Given the description of an element on the screen output the (x, y) to click on. 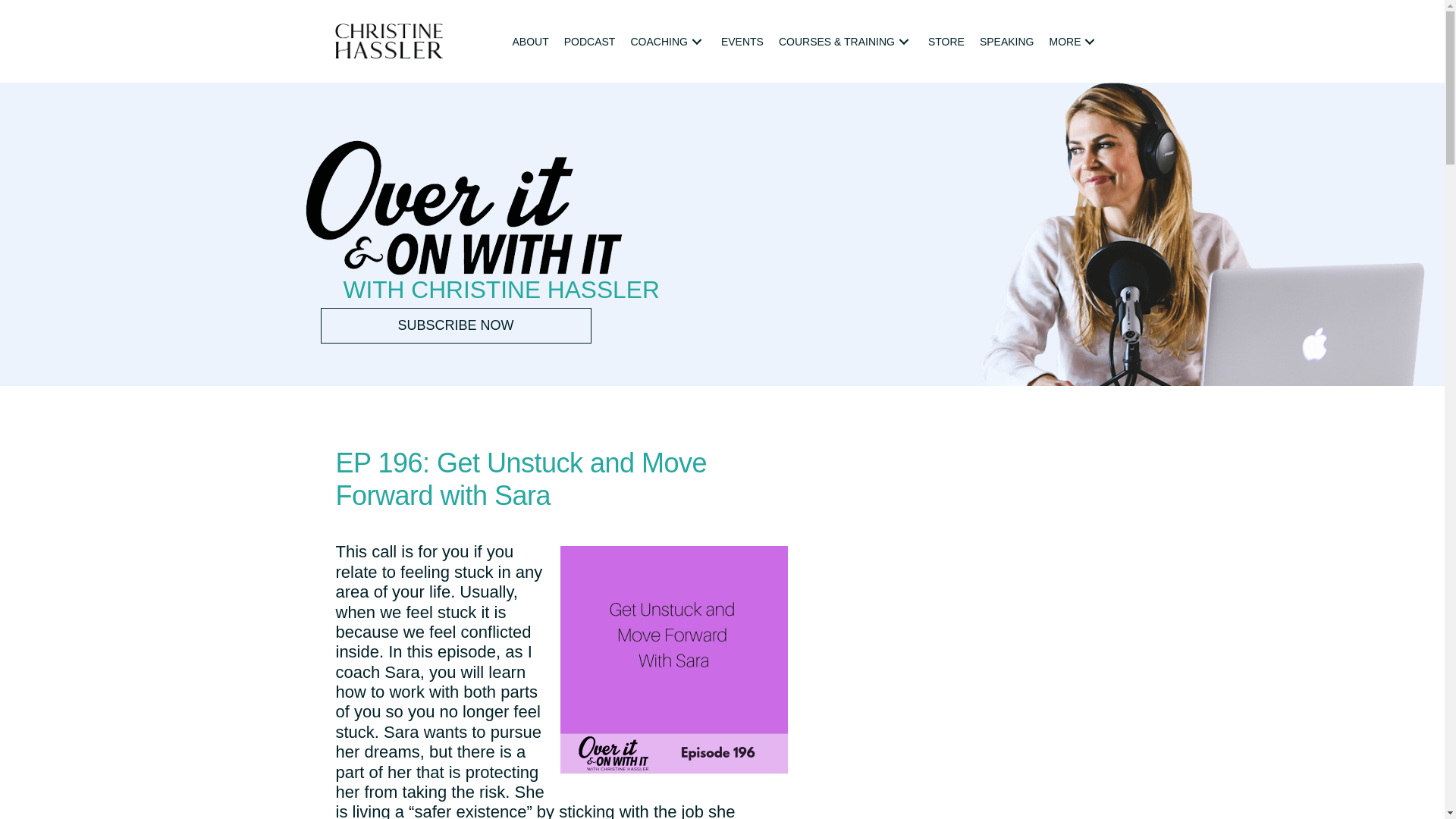
EVENTS (742, 41)
SUBSCRIBE NOW (455, 325)
overit-withit-1 (462, 207)
PODCAST (589, 41)
SPEAKING (1007, 41)
ABOUT (530, 41)
MORE (1073, 41)
STORE (946, 41)
COACHING (668, 41)
